Given the description of an element on the screen output the (x, y) to click on. 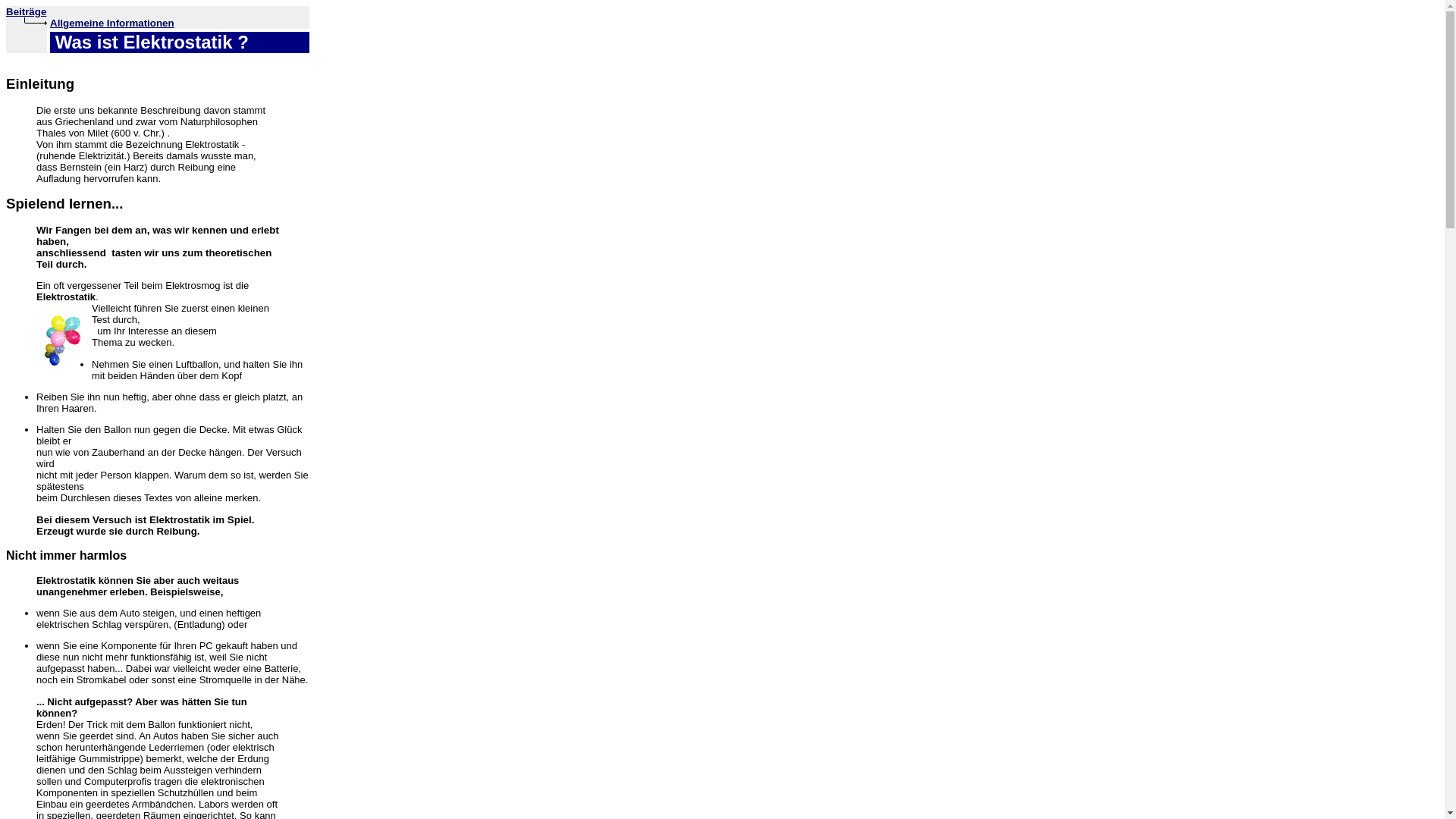
Allgemeine Informationen Element type: text (112, 22)
